Given the description of an element on the screen output the (x, y) to click on. 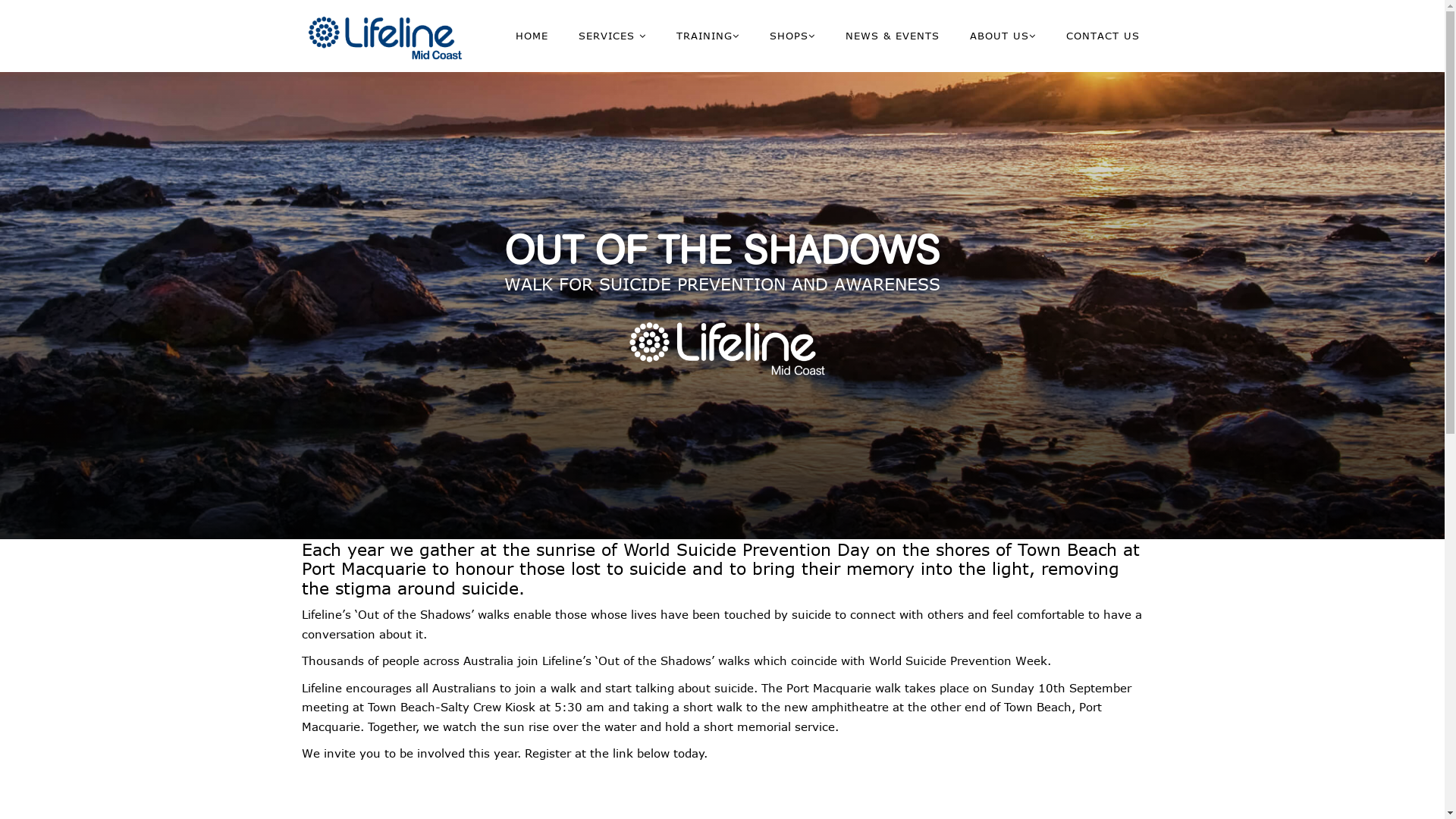
SERVICES Element type: text (611, 36)
TRAINING Element type: text (707, 36)
NEWS & EVENTS Element type: text (891, 35)
CONTACT US Element type: text (1102, 35)
HOME Element type: text (531, 35)
ABOUT US Element type: text (1001, 36)
SHOPS Element type: text (791, 36)
